Given the description of an element on the screen output the (x, y) to click on. 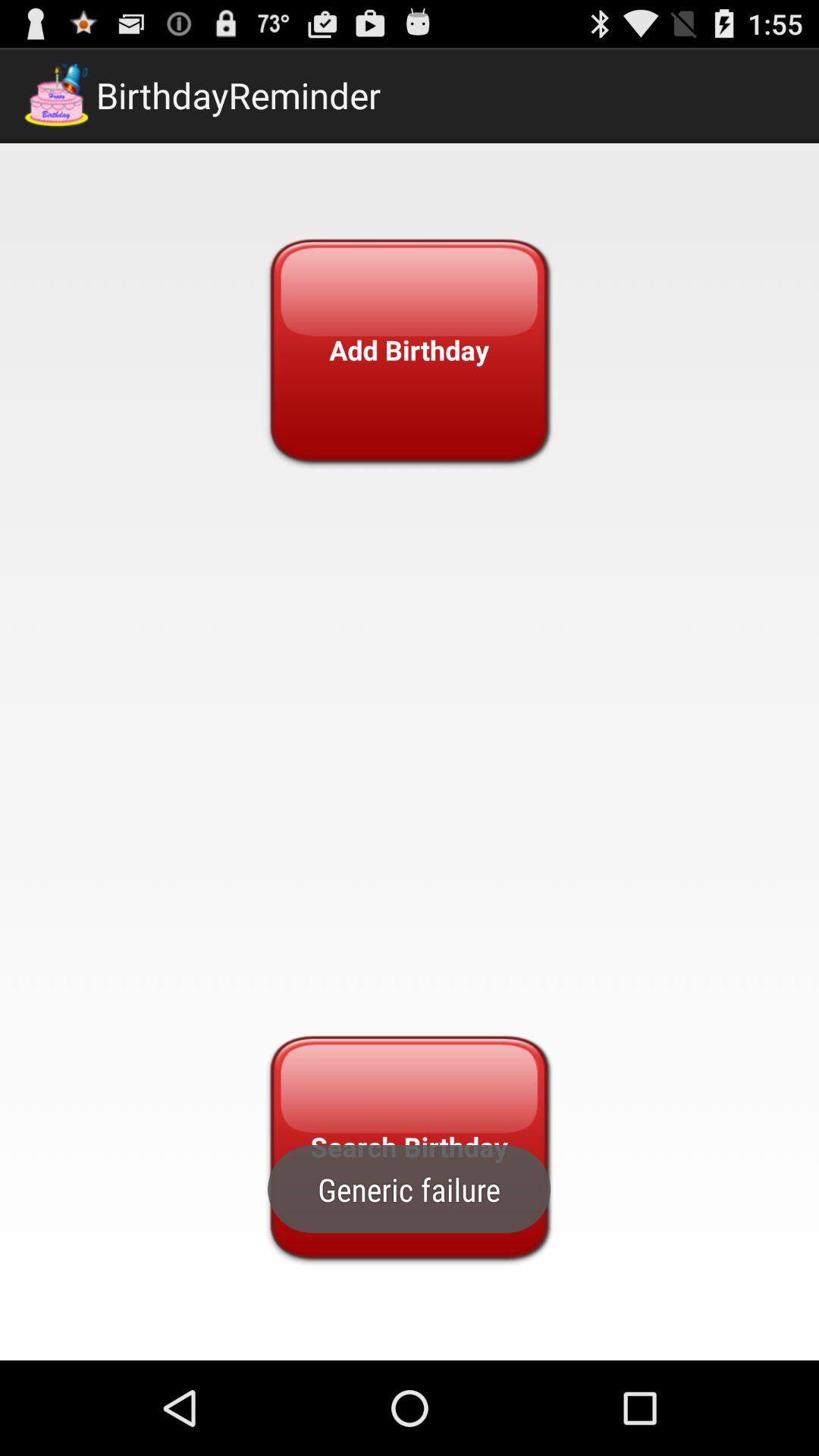
tap the icon above search birthday button (408, 349)
